Given the description of an element on the screen output the (x, y) to click on. 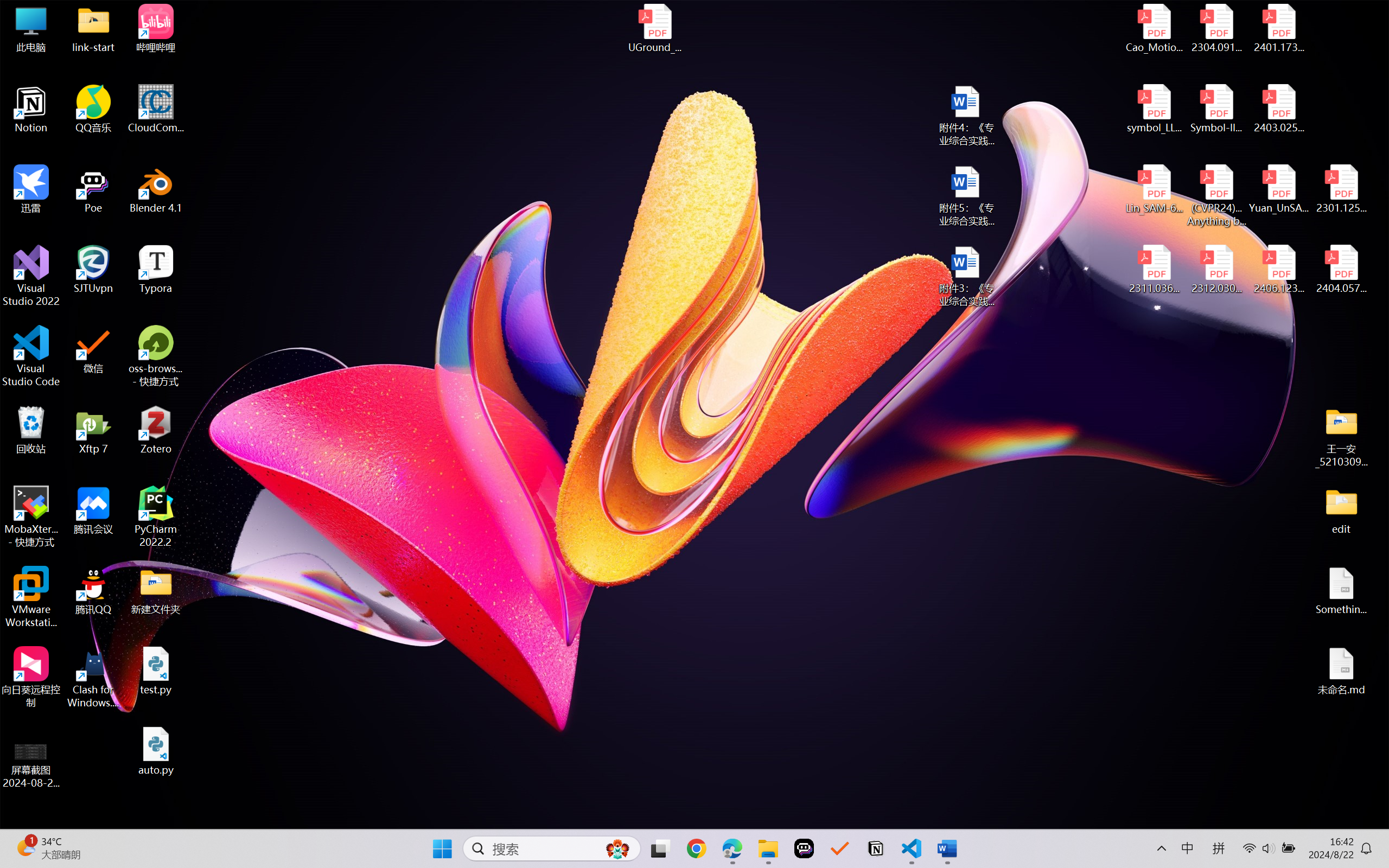
2403.02502v1.pdf (1278, 109)
Xftp 7 (93, 430)
2404.05719v1.pdf (1340, 269)
Visual Studio Code (31, 355)
Symbol-llm-v2.pdf (1216, 109)
auto.py (156, 751)
2304.09121v3.pdf (1216, 28)
